Given the description of an element on the screen output the (x, y) to click on. 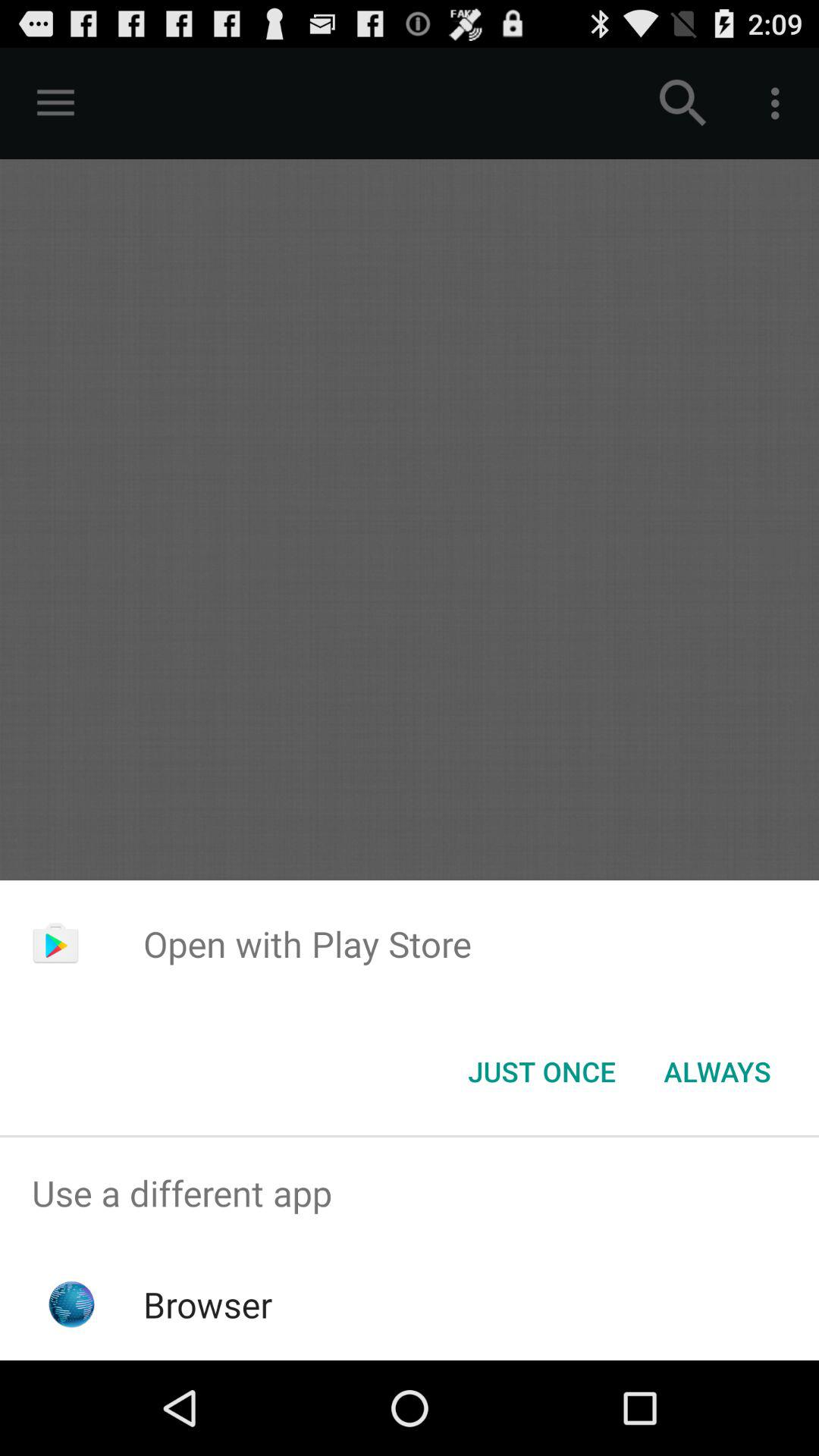
turn off the icon to the left of always (541, 1071)
